Given the description of an element on the screen output the (x, y) to click on. 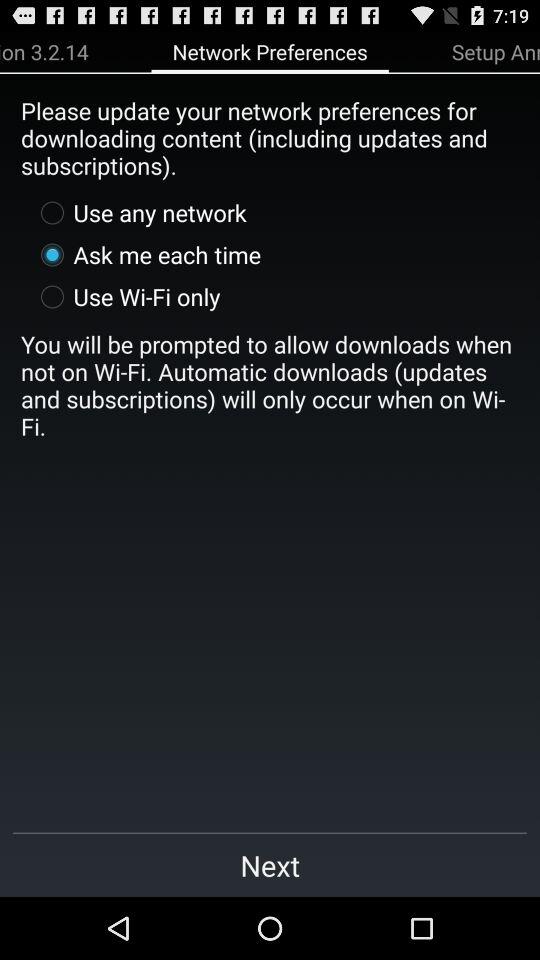
flip until the setup annotation sync (495, 51)
